Given the description of an element on the screen output the (x, y) to click on. 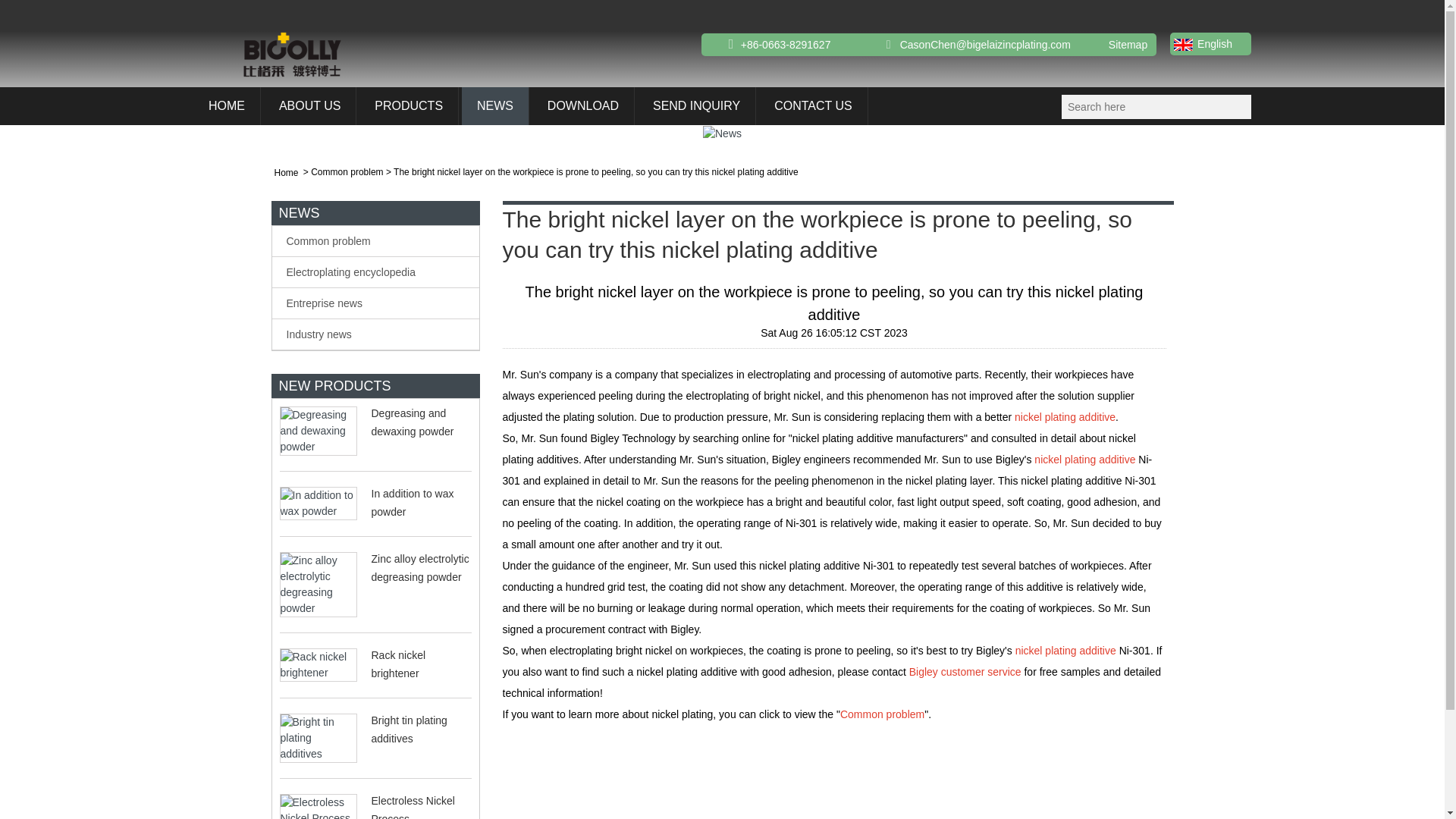
Guangdong Bigely Technology Co.,Ltd. (292, 53)
Products (408, 105)
About Us (309, 105)
English (1200, 43)
News (495, 105)
Home (226, 105)
